Given the description of an element on the screen output the (x, y) to click on. 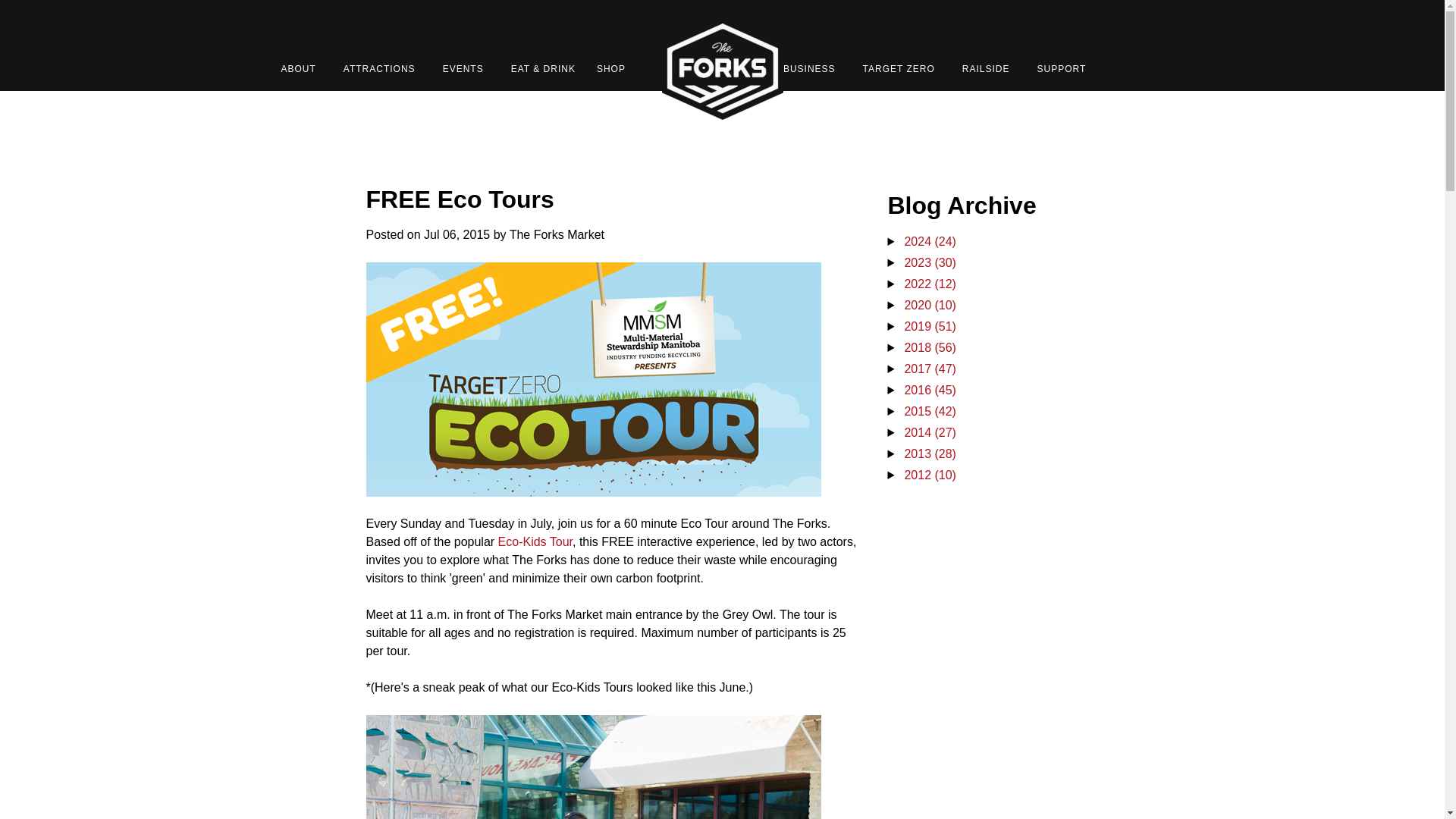
Facebook (1025, 23)
Blog (995, 23)
BUSINESS (809, 68)
TARGET ZERO (898, 68)
SHOP (611, 68)
RAILSIDE (986, 68)
ATTRACTIONS (379, 68)
Youtube (1116, 23)
The Forks (722, 70)
EVENTS (463, 68)
Instagram (1086, 23)
ABOUT (297, 68)
search (1146, 23)
